Given the description of an element on the screen output the (x, y) to click on. 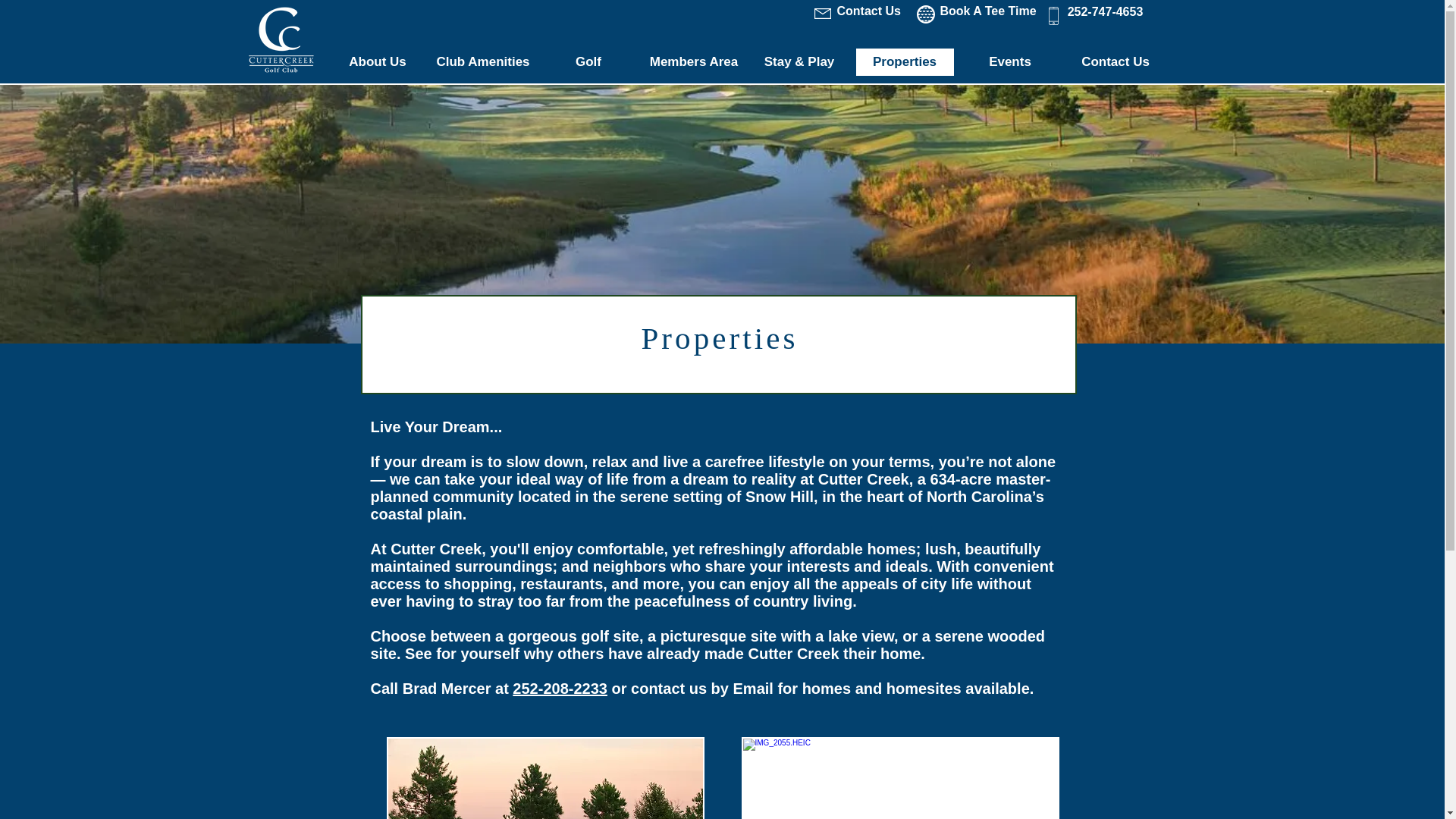
Golf (587, 62)
252-747-4653 (1104, 11)
Members Area (694, 62)
Properties (904, 62)
Contact Us (1115, 62)
Book A Tee Time (987, 10)
About Us (376, 62)
252-208-2233 (559, 688)
Events (1009, 62)
 Contact Us (866, 10)
